Given the description of an element on the screen output the (x, y) to click on. 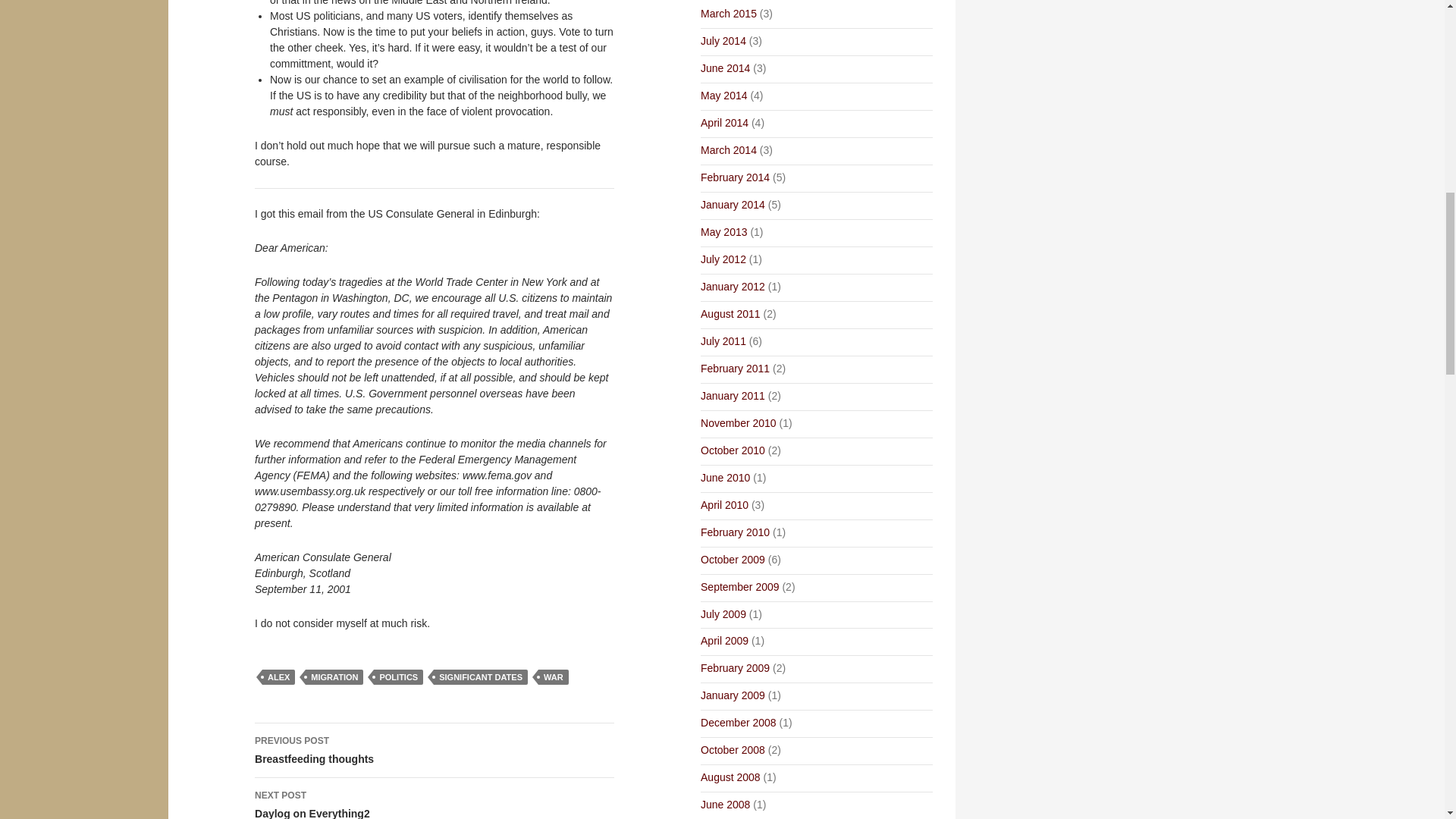
POLITICS (398, 676)
ALEX (278, 676)
MIGRATION (333, 676)
